Given the description of an element on the screen output the (x, y) to click on. 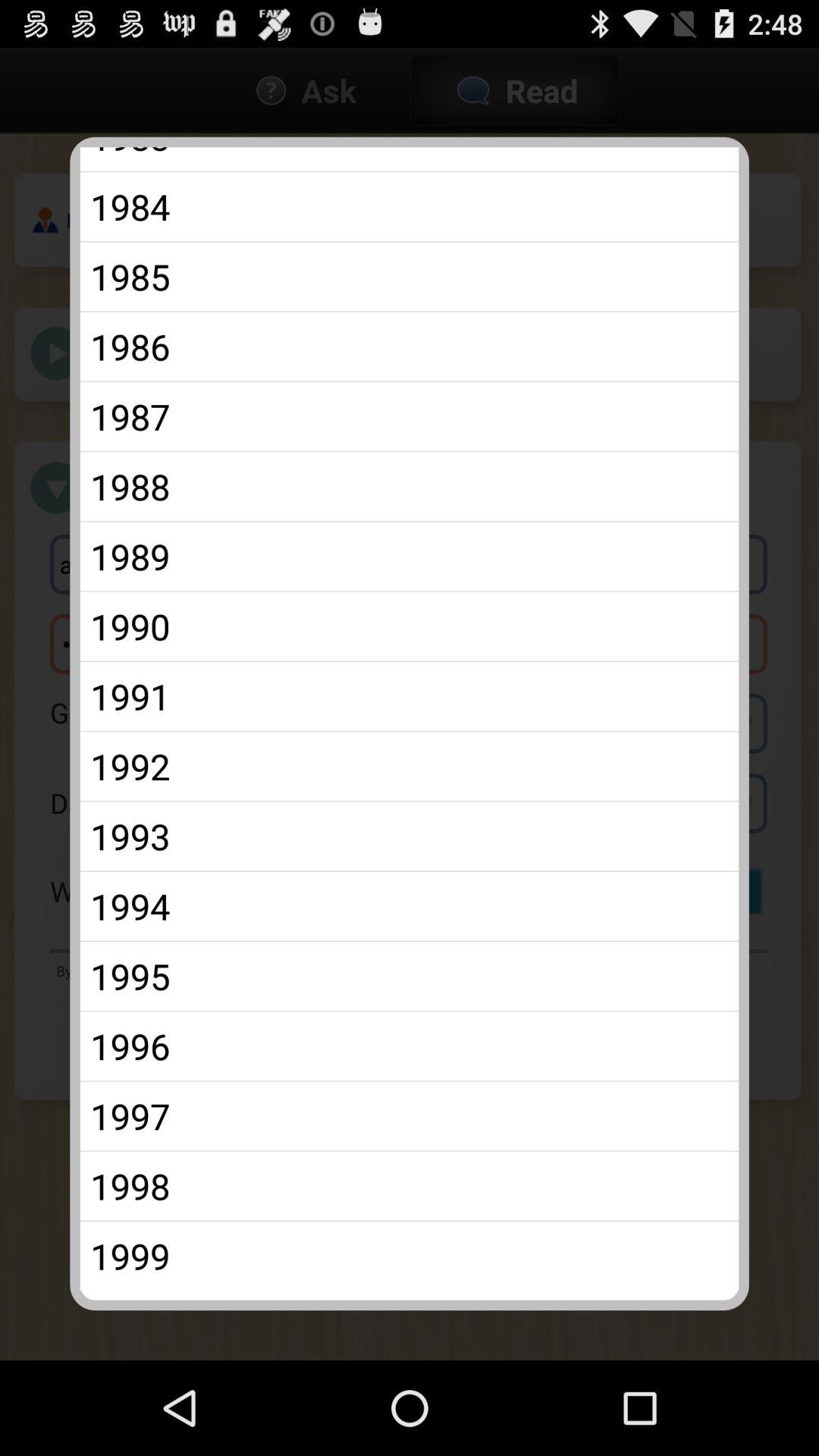
open 1988 item (409, 486)
